Given the description of an element on the screen output the (x, y) to click on. 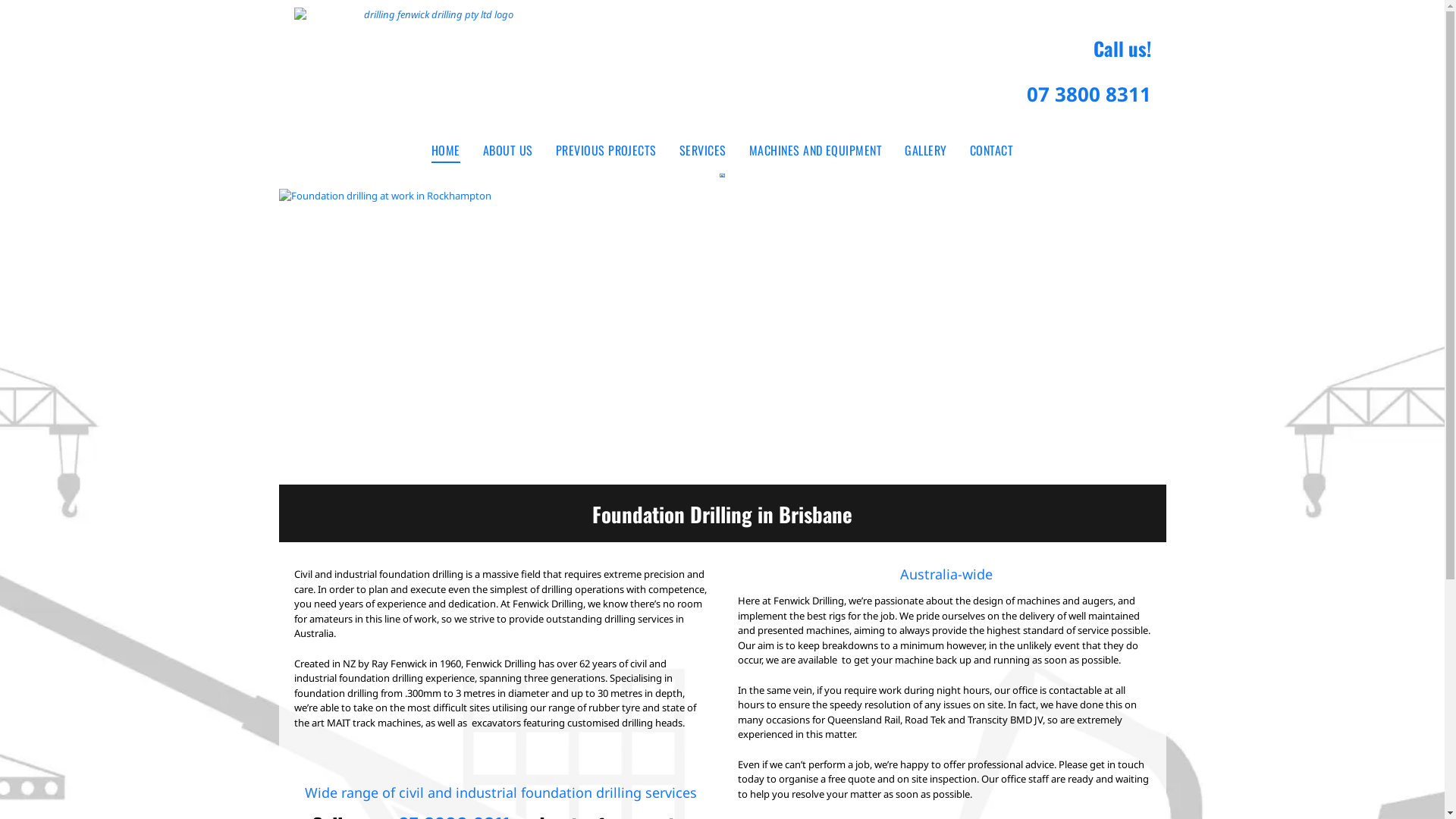
ABOUT US Element type: text (507, 149)
HOME Element type: text (445, 149)
CONTACT Element type: text (991, 149)
PREVIOUS PROJECTS Element type: text (606, 149)
GALLERY Element type: text (925, 149)
Fenwick Drilling Pty Ltd truck Element type: hover (722, 335)
MACHINES AND EQUIPMENT Element type: text (815, 149)
SERVICES Element type: text (702, 149)
